Given the description of an element on the screen output the (x, y) to click on. 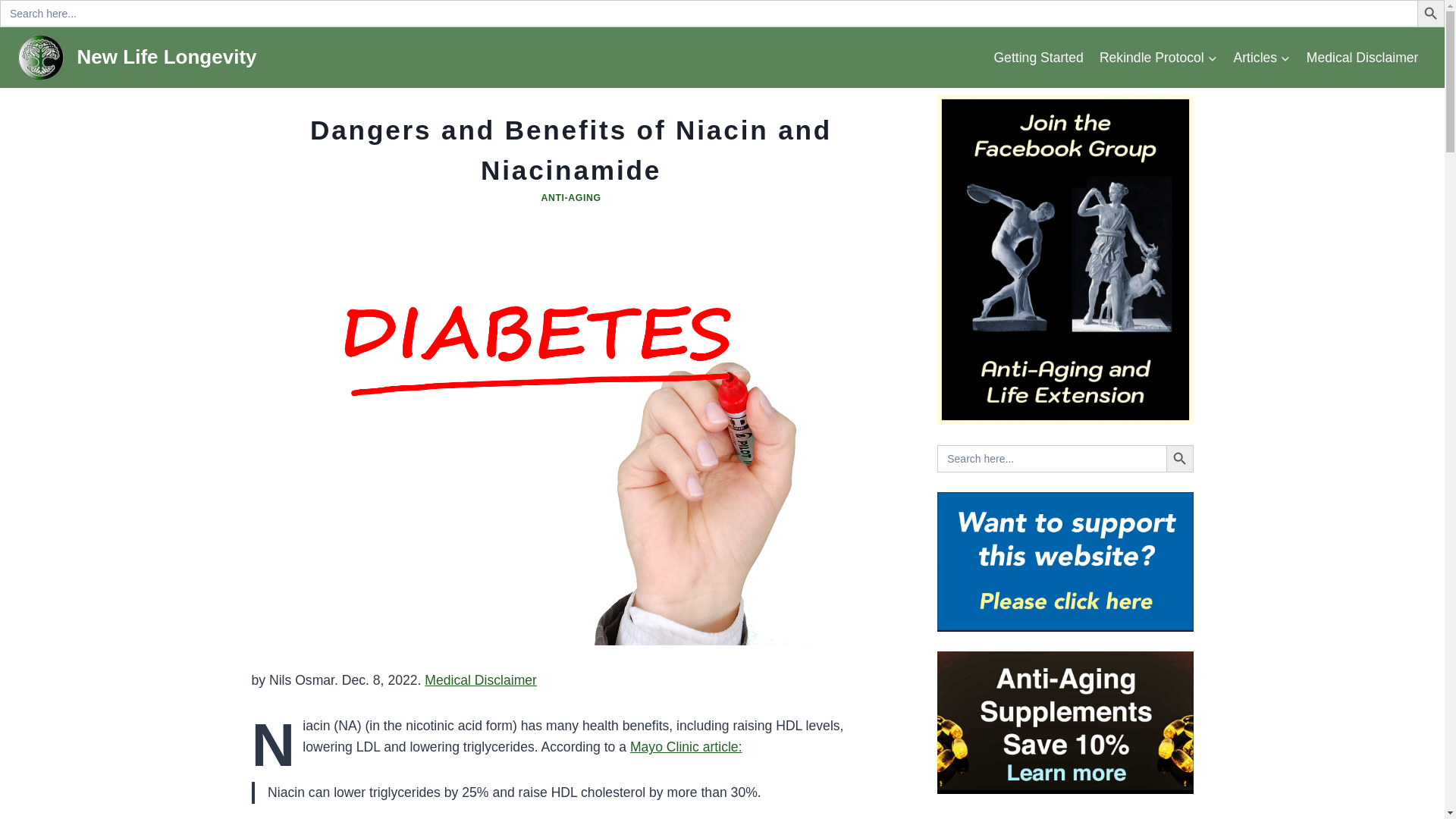
Medical Disclaimer (1362, 57)
ANTI-AGING (569, 197)
Mayo Clinic article: (686, 746)
Getting Started (1037, 57)
New Life Longevity (137, 57)
Articles (1261, 57)
Rekindle Protocol (1157, 57)
Medical Disclaimer (481, 679)
